Given the description of an element on the screen output the (x, y) to click on. 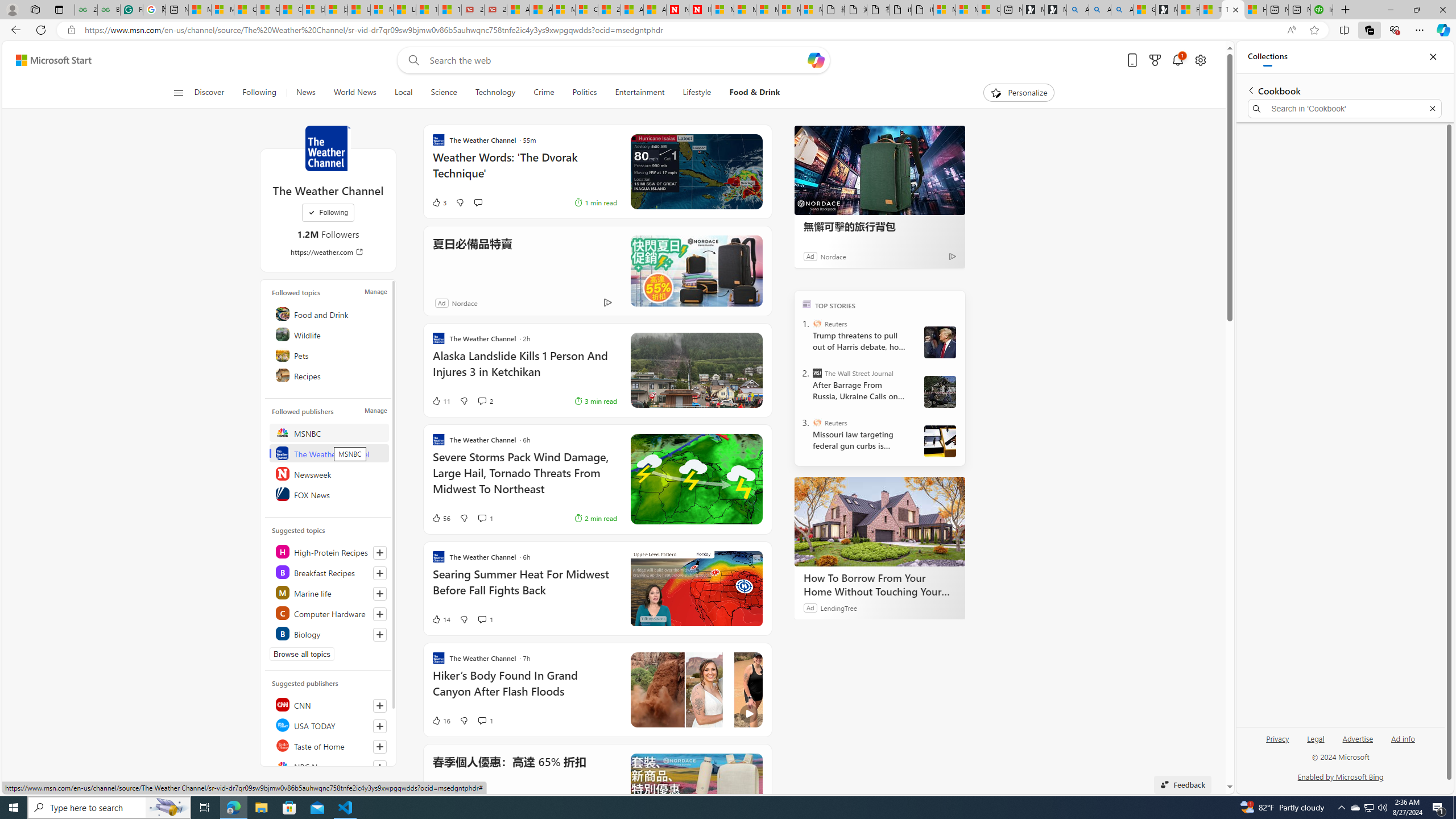
Class: highlight (328, 633)
Intuit QuickBooks Online - Quickbooks (1322, 9)
